Given the description of an element on the screen output the (x, y) to click on. 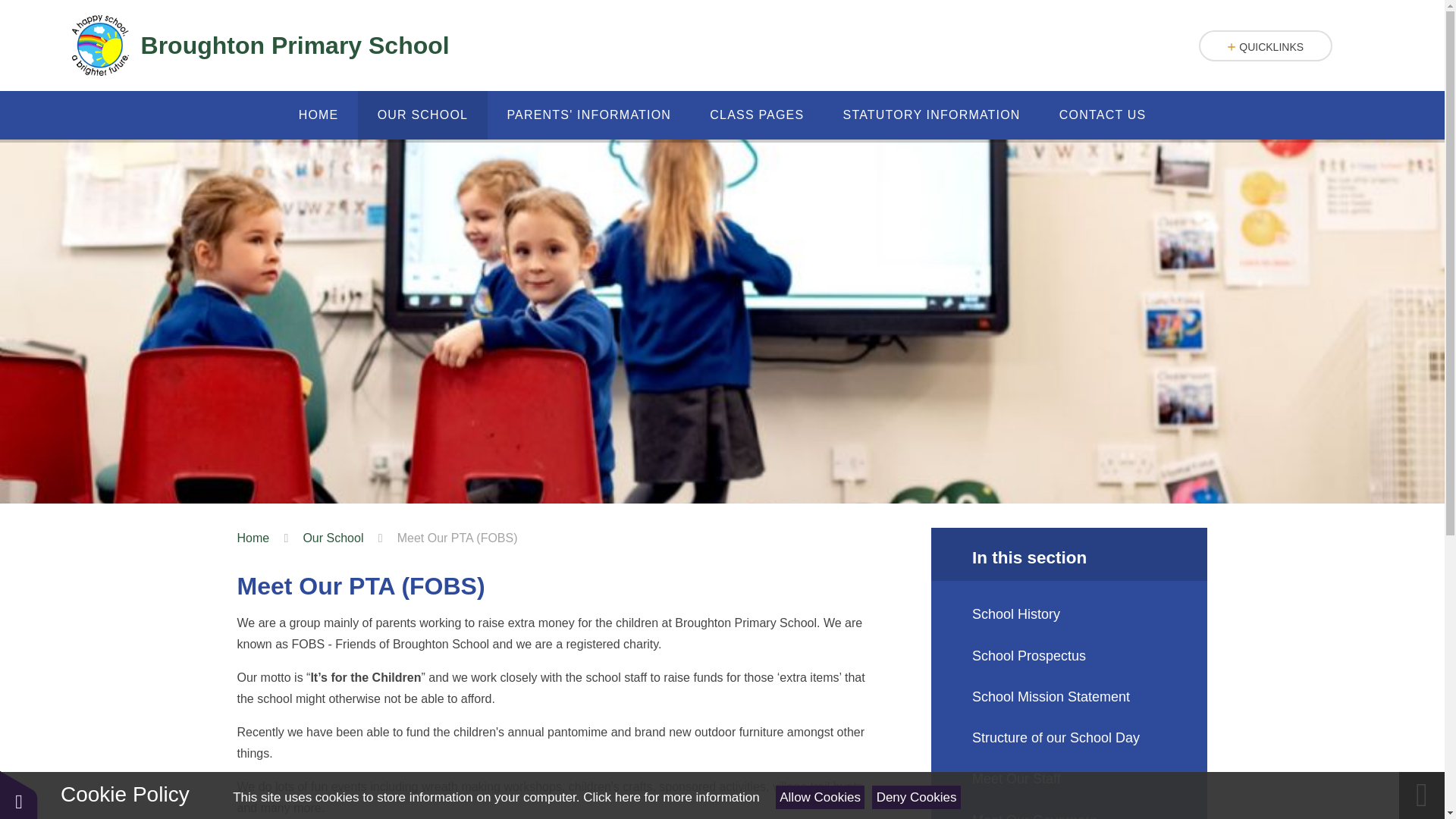
HOME (318, 114)
Allow Cookies (820, 797)
PARENTS' INFORMATION (588, 114)
Deny Cookies (915, 797)
OUR SCHOOL (422, 114)
See cookie policy (670, 797)
Broughton Primary School (259, 45)
